Given the description of an element on the screen output the (x, y) to click on. 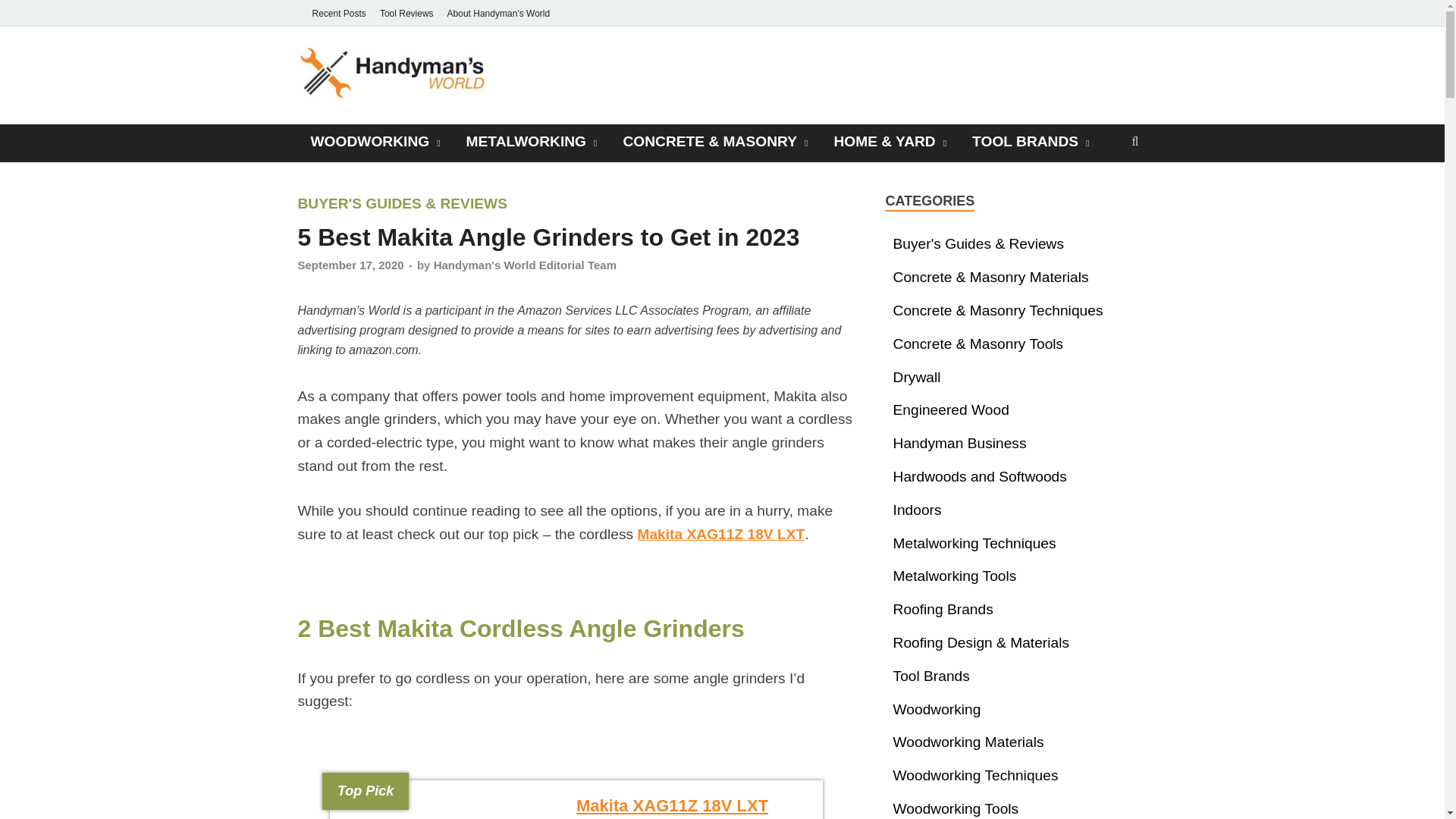
TOOL BRANDS (1030, 141)
Tool Reviews (406, 13)
Handyman's World (621, 77)
METALWORKING (531, 141)
WOODWORKING (374, 141)
Recent Posts (338, 13)
